Given the description of an element on the screen output the (x, y) to click on. 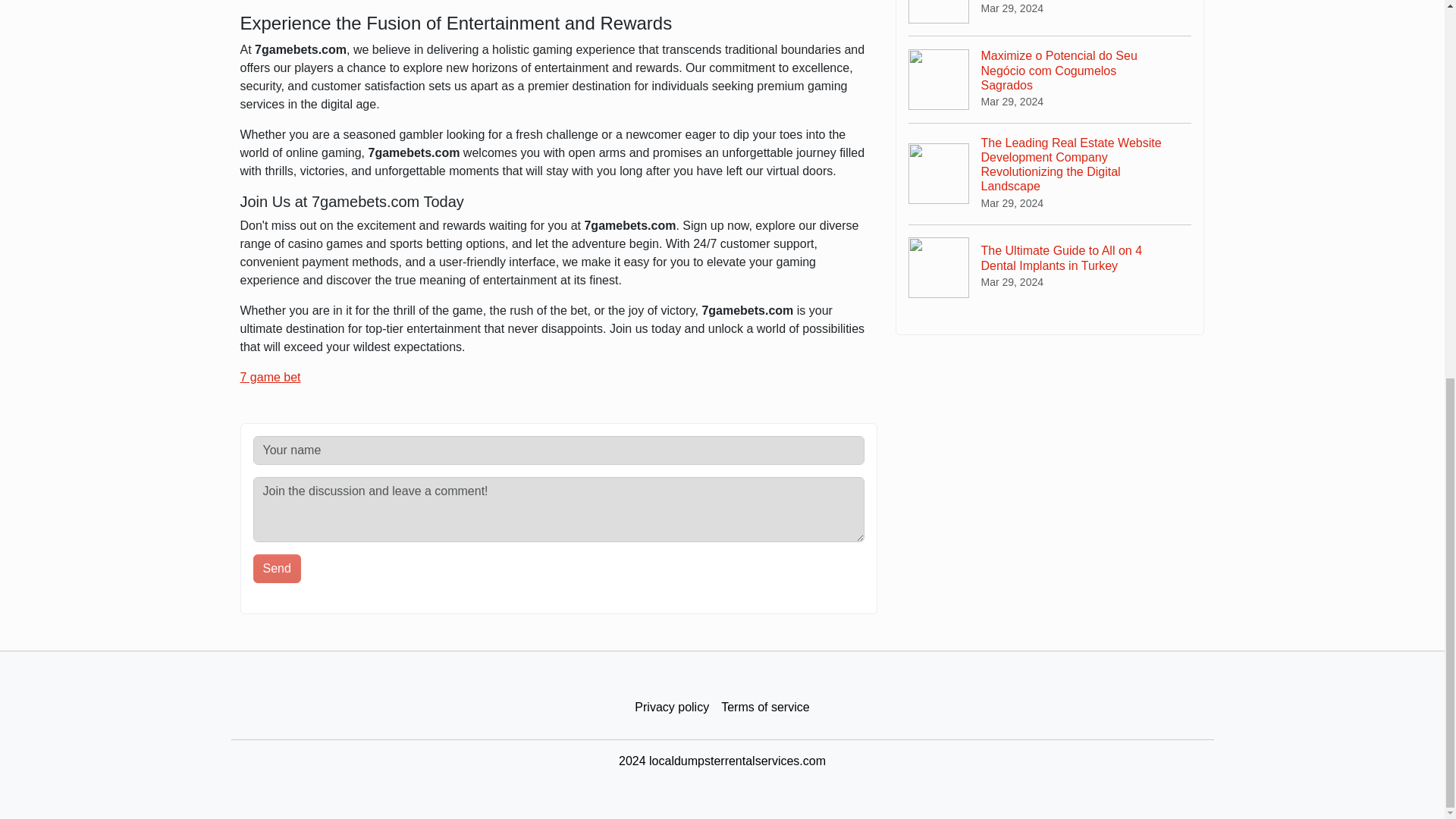
Privacy policy (671, 707)
Send (277, 568)
Terms of service (764, 707)
7 game bet (269, 377)
Send (277, 568)
